Given the description of an element on the screen output the (x, y) to click on. 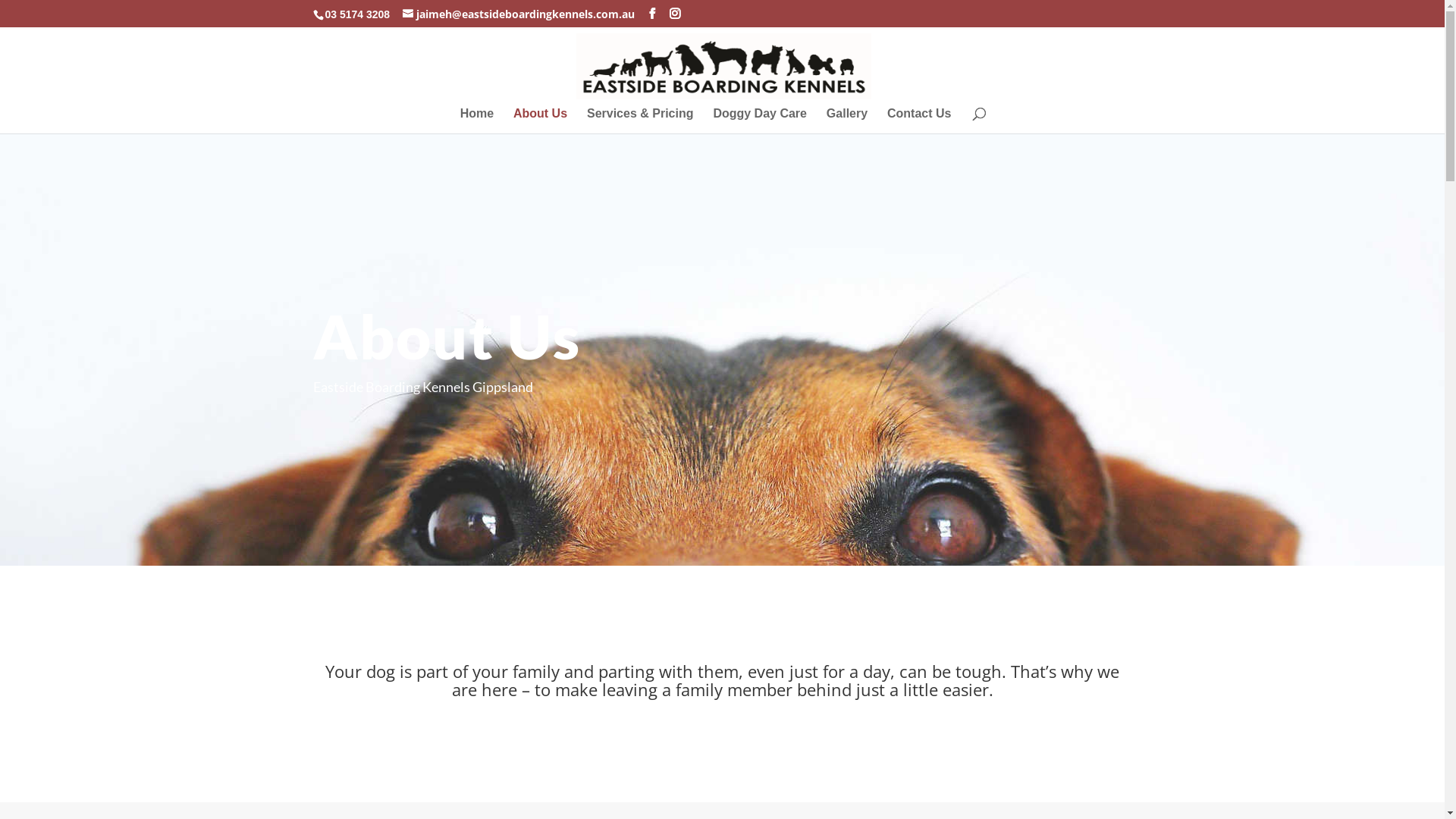
About Us Element type: text (540, 120)
Home Element type: text (476, 120)
Doggy Day Care Element type: text (759, 120)
jaimeh@eastsideboardingkennels.com.au Element type: text (518, 13)
Services & Pricing Element type: text (639, 120)
Contact Us Element type: text (918, 120)
Gallery Element type: text (846, 120)
